Given the description of an element on the screen output the (x, y) to click on. 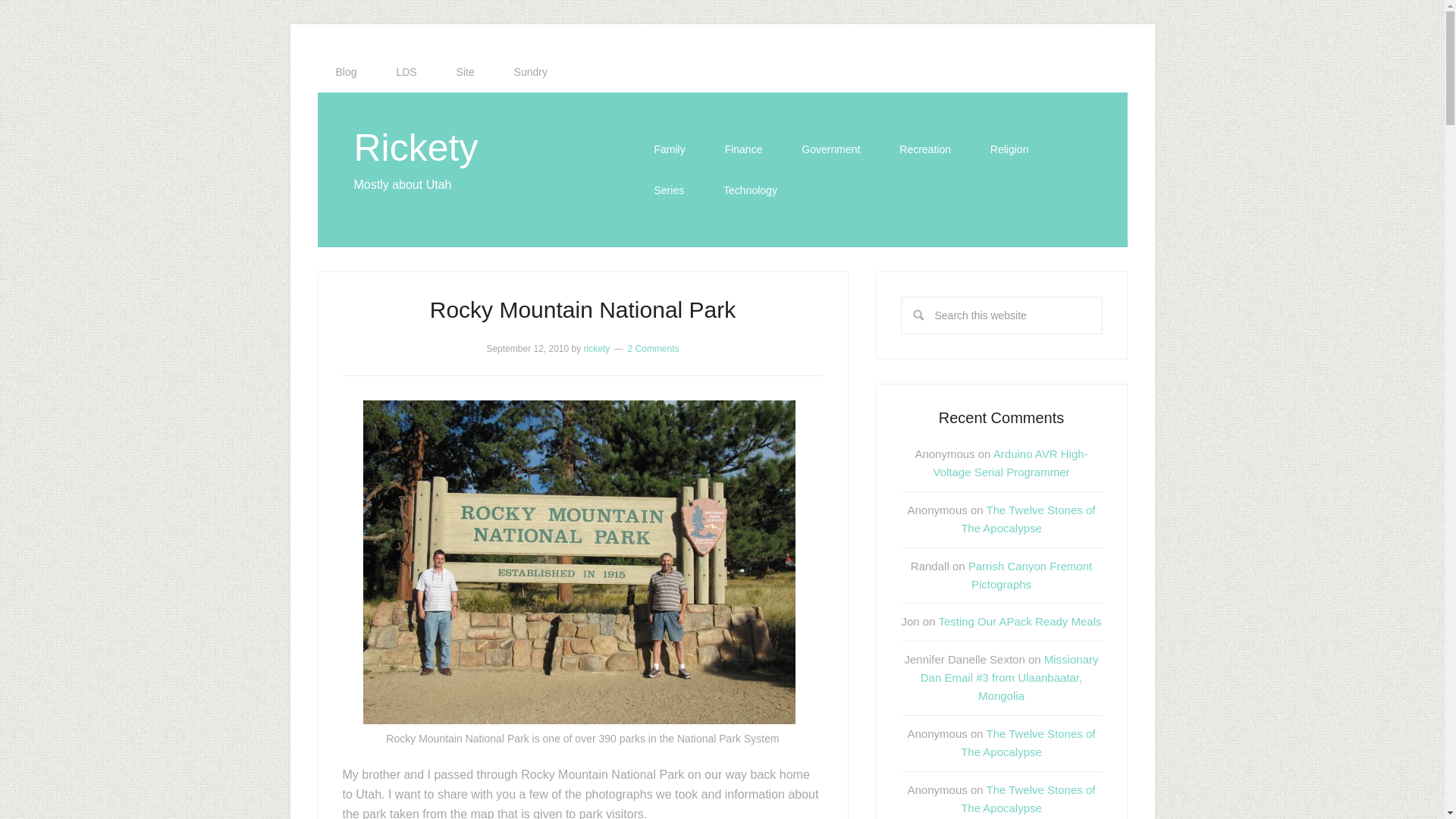
Family (668, 148)
LDS (405, 71)
Site (465, 71)
Membership statistics and other stuff (405, 71)
Sundry (531, 71)
Blog (345, 71)
View as a conventional blog (345, 71)
Details about this blog (465, 71)
